Given the description of an element on the screen output the (x, y) to click on. 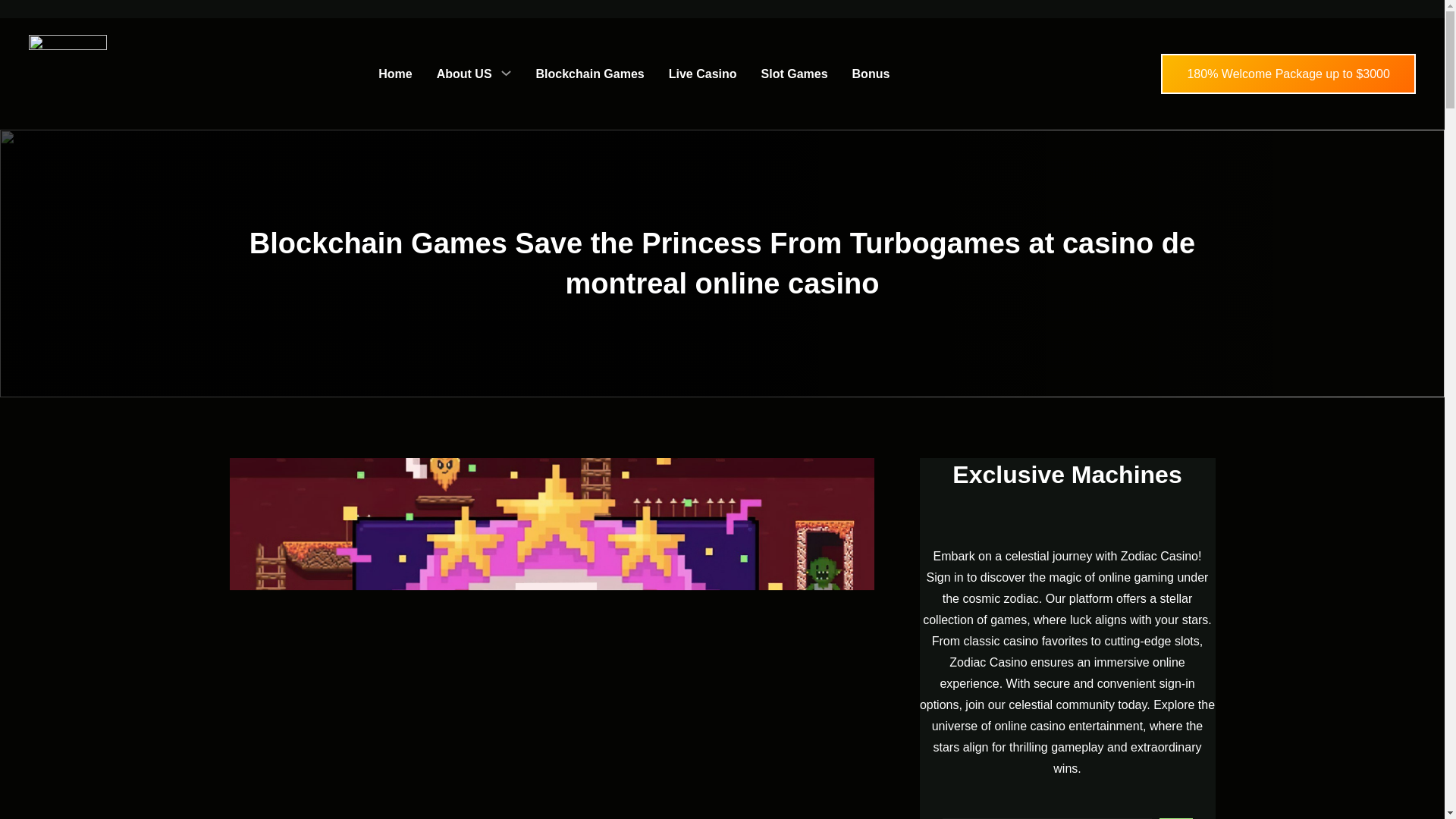
Slot Games (794, 74)
Live Casino (702, 74)
Blockchain Games (590, 74)
Bonus (870, 74)
About US (464, 74)
